Given the description of an element on the screen output the (x, y) to click on. 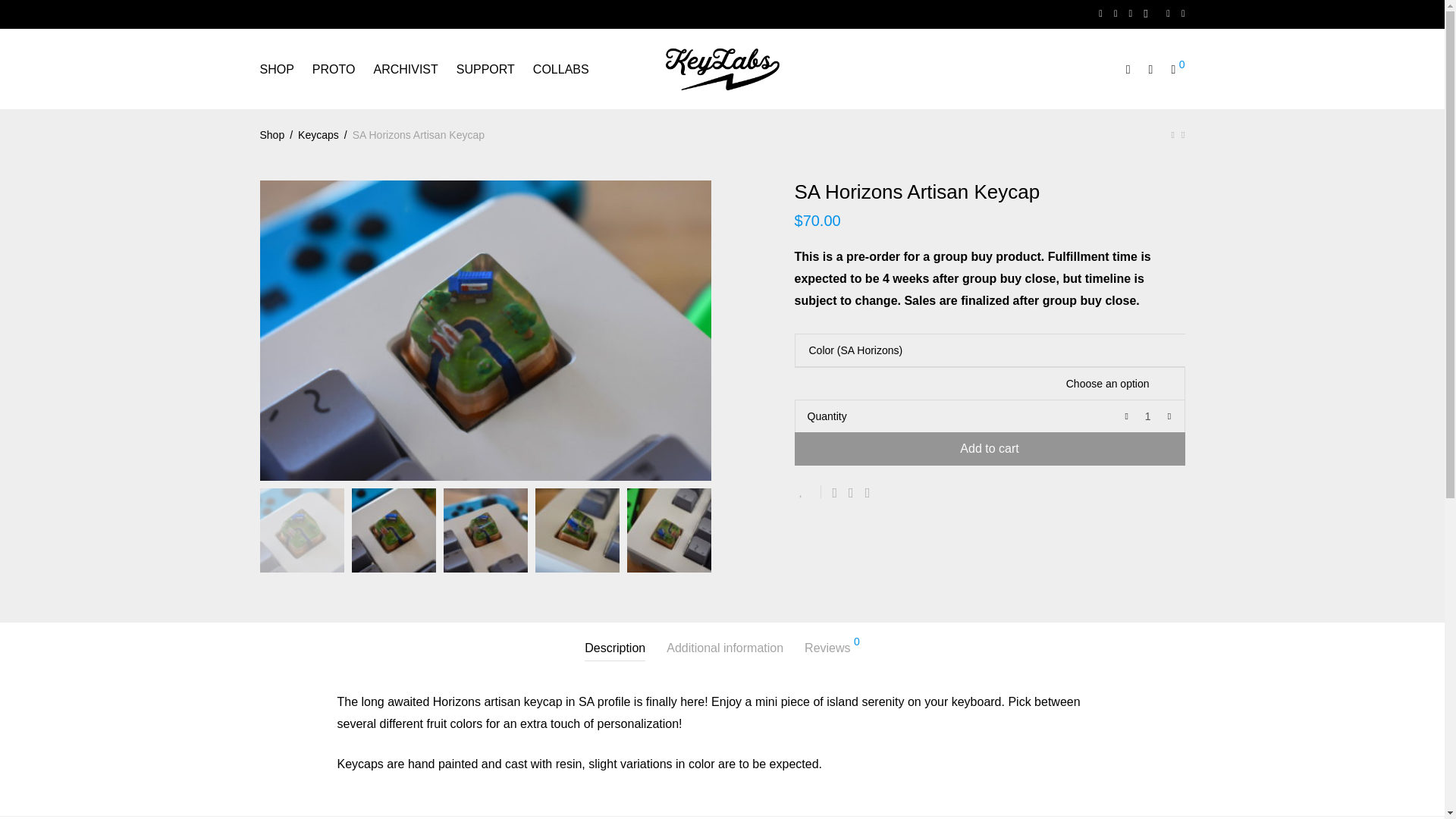
Add to cart (989, 449)
SHOP (276, 69)
Keycaps (318, 134)
COLLABS (561, 69)
SUPPORT (485, 69)
Add to Wishlist (807, 491)
Additional information (724, 648)
Description (615, 648)
Shop (271, 134)
Reviews 0 (832, 648)
ARCHIVIST (405, 69)
Discord (1148, 13)
PROTO (333, 69)
